Given the description of an element on the screen output the (x, y) to click on. 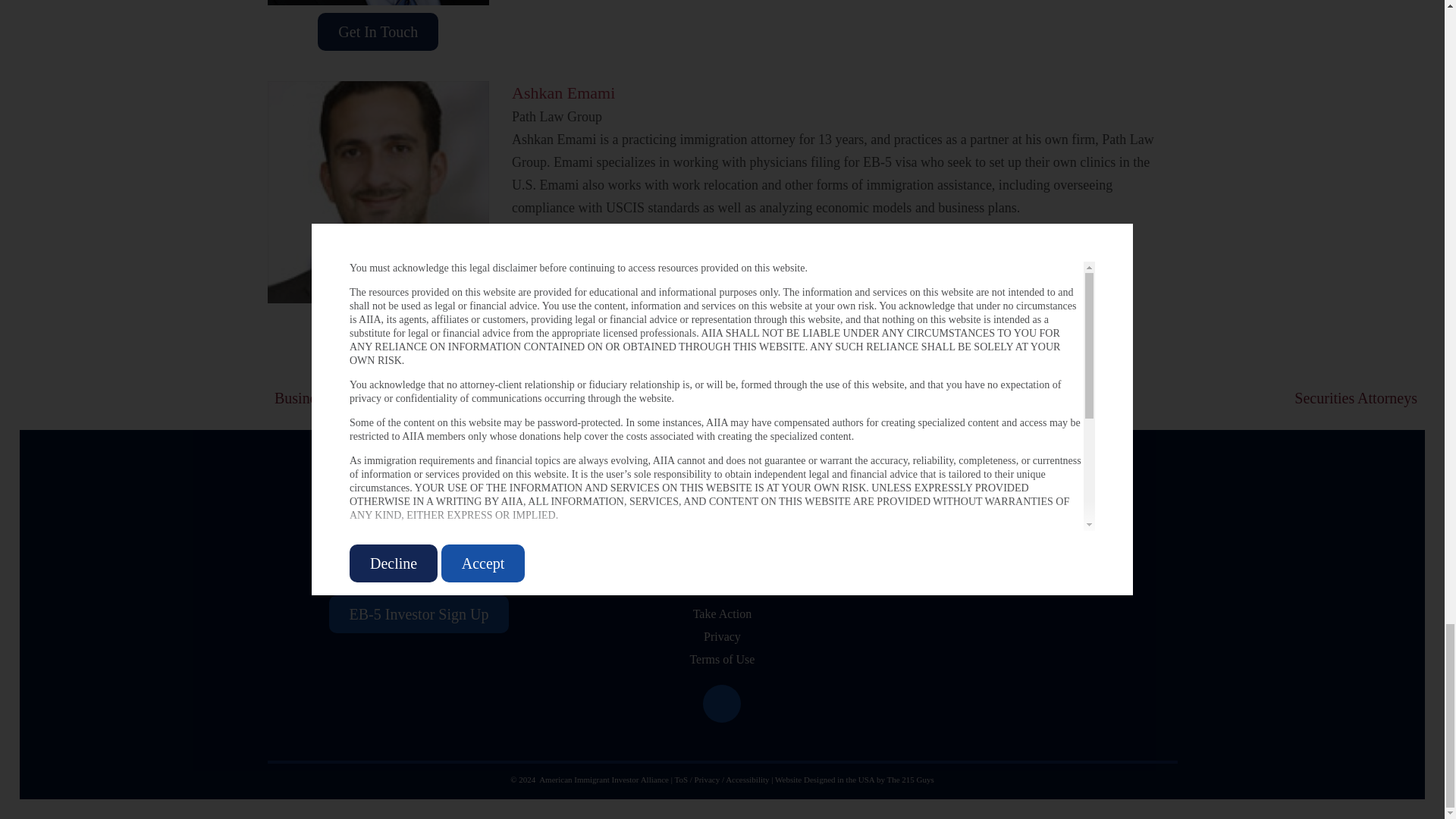
Securities Attorneys (1140, 398)
Contact (722, 590)
Take Action (722, 612)
Membership (721, 567)
Resources (722, 521)
Privacy (707, 778)
Business Plan Writers (550, 398)
Business Plan Writers (550, 398)
Terms of Use (721, 658)
Website Designed (804, 778)
Privacy (722, 635)
EB-5 Investor Sign Up (419, 613)
Securities Attorneys (1140, 398)
About Us (721, 499)
ToS (680, 778)
